Given the description of an element on the screen output the (x, y) to click on. 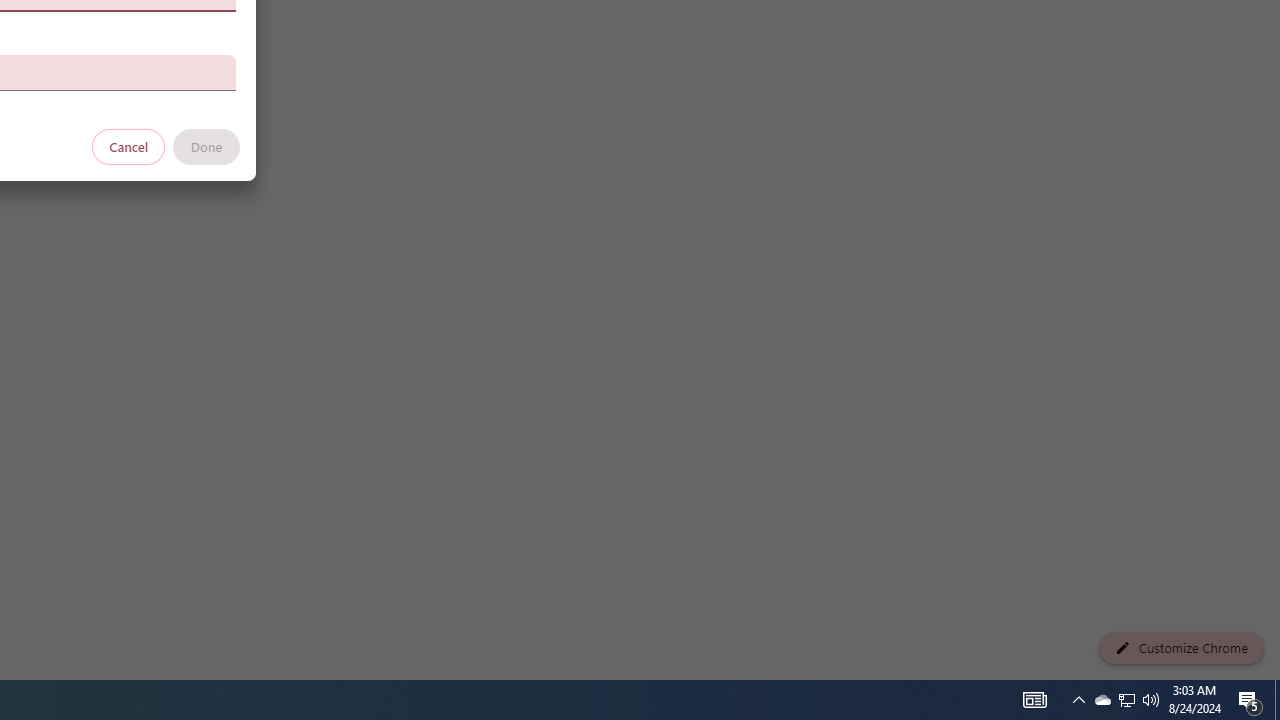
Cancel (129, 146)
Done (206, 146)
